Given the description of an element on the screen output the (x, y) to click on. 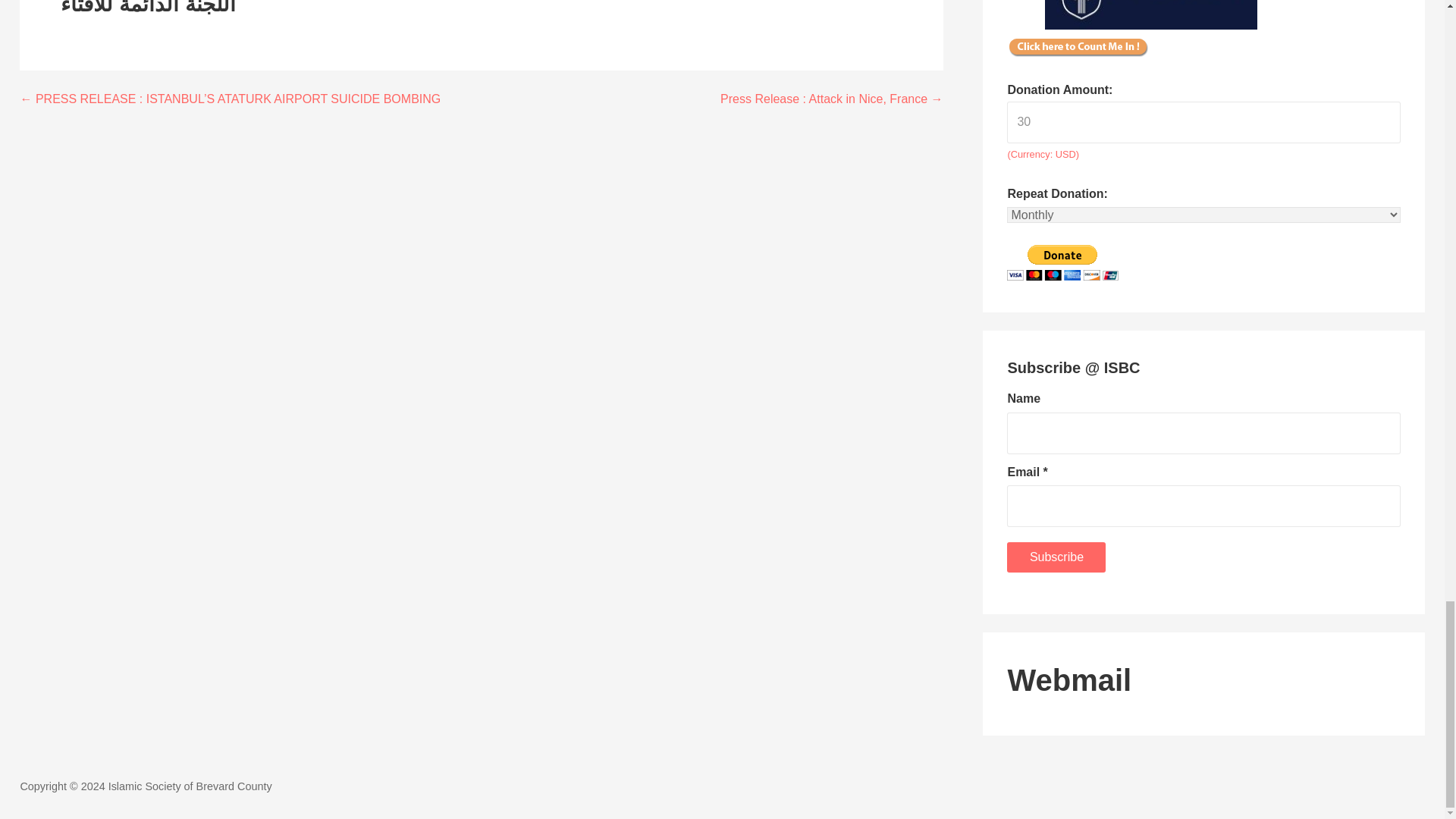
Subscribe (1056, 557)
Subscribe (1056, 557)
Webmail (1203, 680)
Go to W3Schools HTML section (1203, 680)
30 (1203, 122)
